Given the description of an element on the screen output the (x, y) to click on. 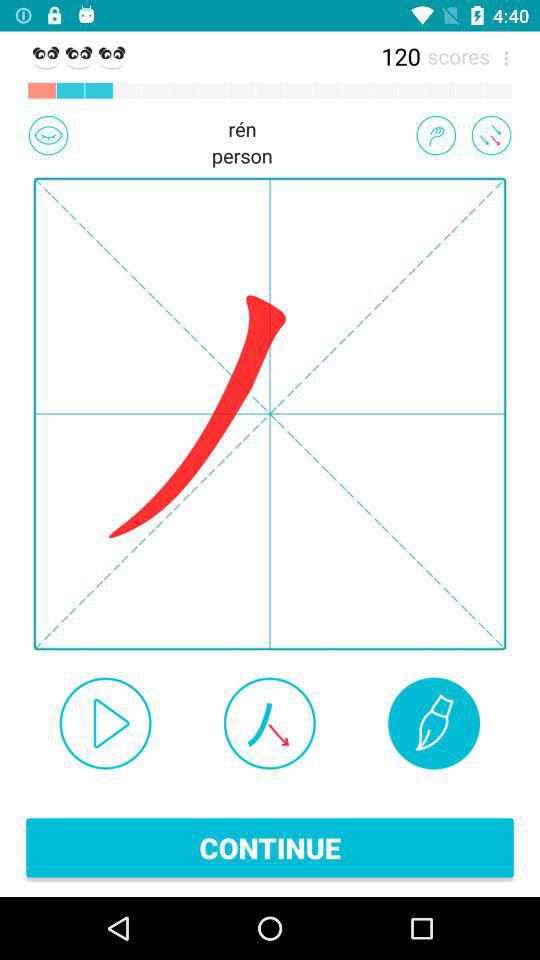
open item next to the person icon (48, 135)
